Given the description of an element on the screen output the (x, y) to click on. 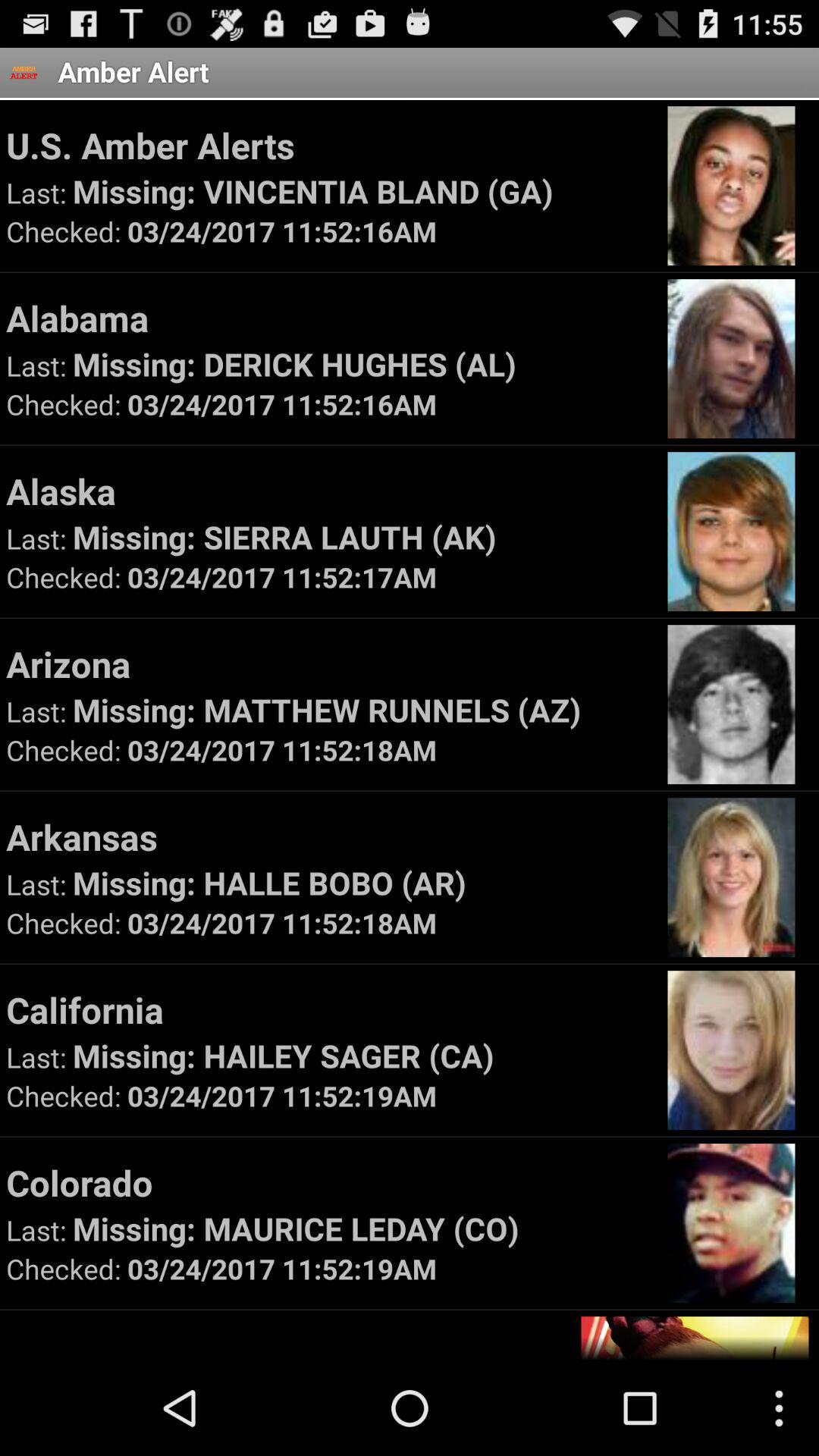
choose app above missing halle bobo icon (329, 836)
